Given the description of an element on the screen output the (x, y) to click on. 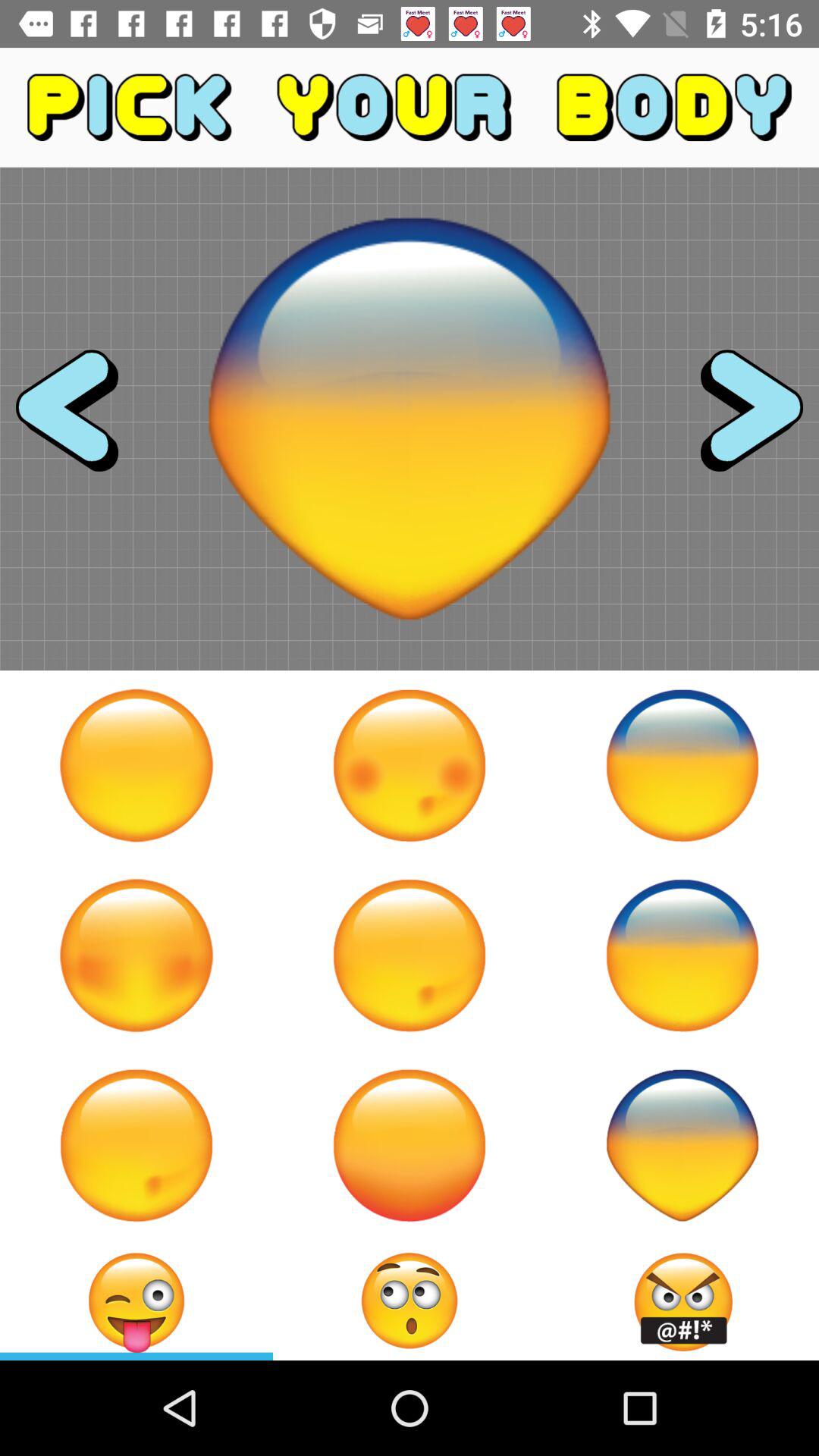
select emoji (409, 765)
